Given the description of an element on the screen output the (x, y) to click on. 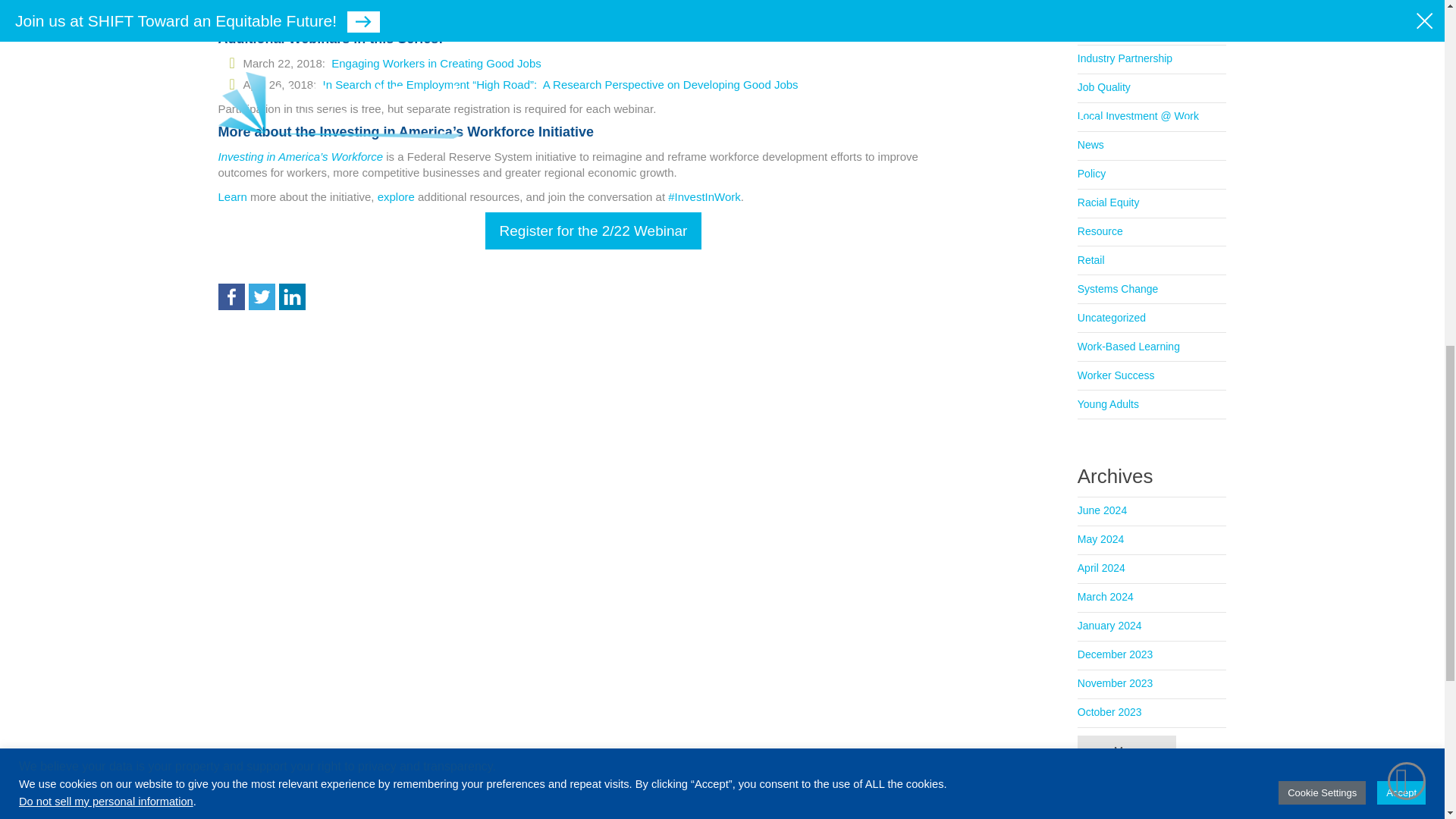
facebook (231, 296)
the Aspen Institute (417, 2)
linkedin (292, 296)
twitter (261, 296)
